Given the description of an element on the screen output the (x, y) to click on. 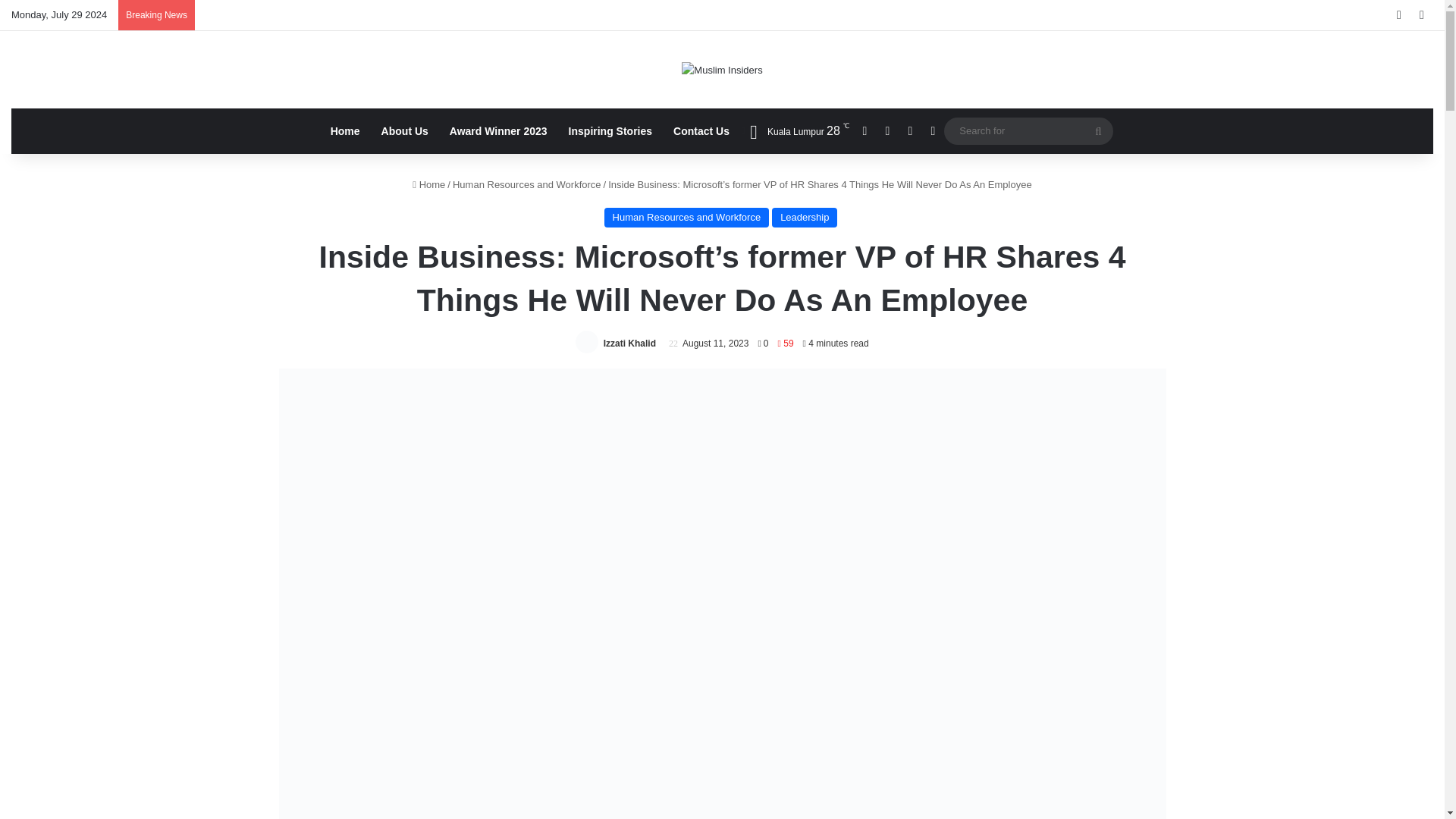
Search for (1028, 130)
Muslim Insiders (721, 69)
Inspiring Stories (609, 130)
Contact Us (700, 130)
Scattered Clouds (793, 131)
Award Winner 2023 (498, 130)
About Us (405, 130)
Human Resources and Workforce (687, 217)
Home (345, 130)
Izzati Khalid (630, 343)
Leadership (804, 217)
Home (428, 184)
Izzati Khalid (630, 343)
Human Resources and Workforce (526, 184)
